Given the description of an element on the screen output the (x, y) to click on. 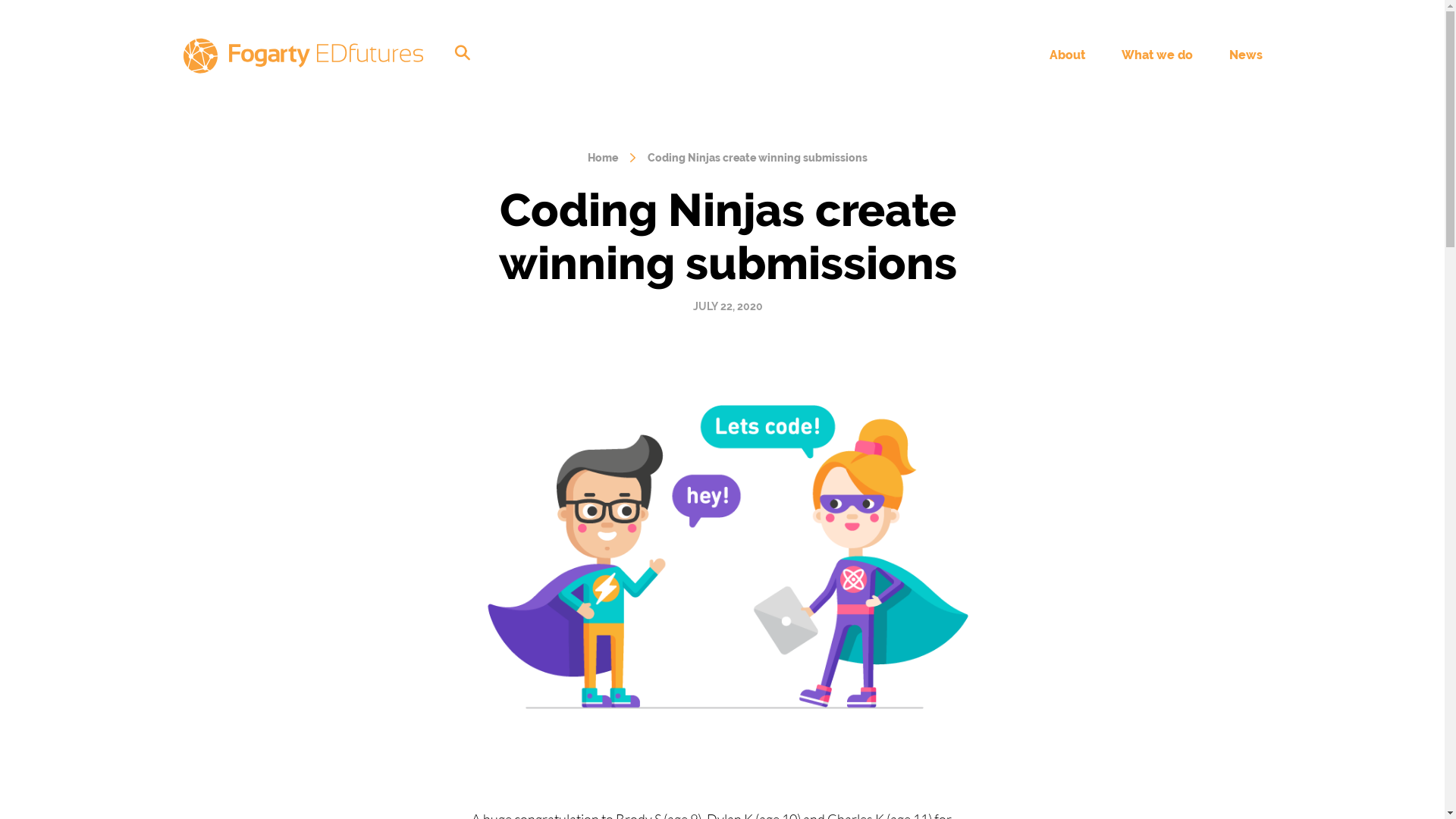
About Element type: text (1067, 54)
News Element type: text (1245, 54)
Home Element type: text (602, 157)
What we do Element type: text (1156, 54)
